Given the description of an element on the screen output the (x, y) to click on. 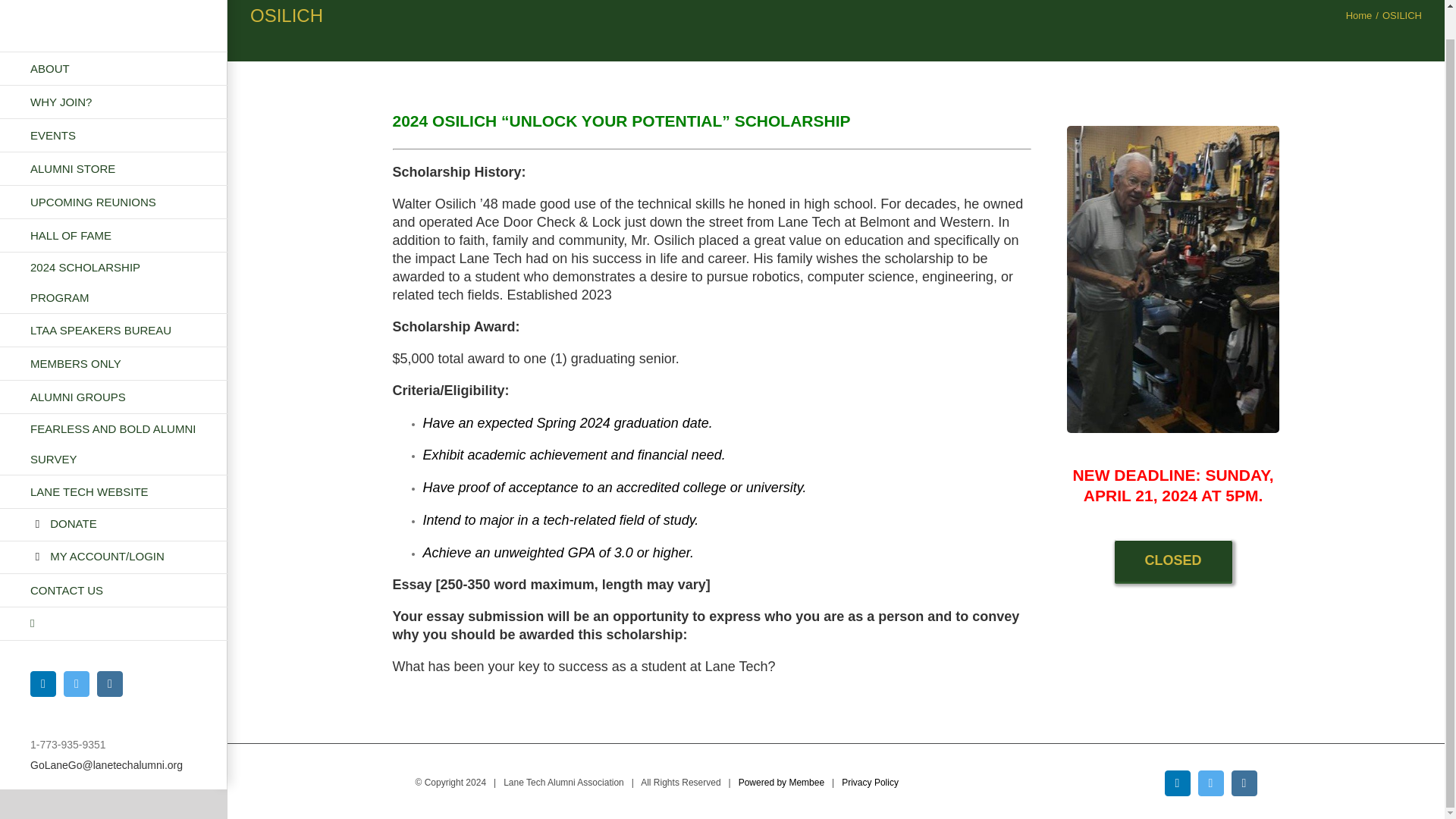
LinkedIn (43, 683)
LinkedIn (1177, 783)
WHY JOIN? (113, 101)
DONATE (113, 524)
Twitter (76, 683)
Twitter (76, 683)
EVENTS (113, 135)
ALUMNI STORE (113, 168)
ABOUT (113, 68)
LANE TECH WEBSITE (113, 491)
